Given the description of an element on the screen output the (x, y) to click on. 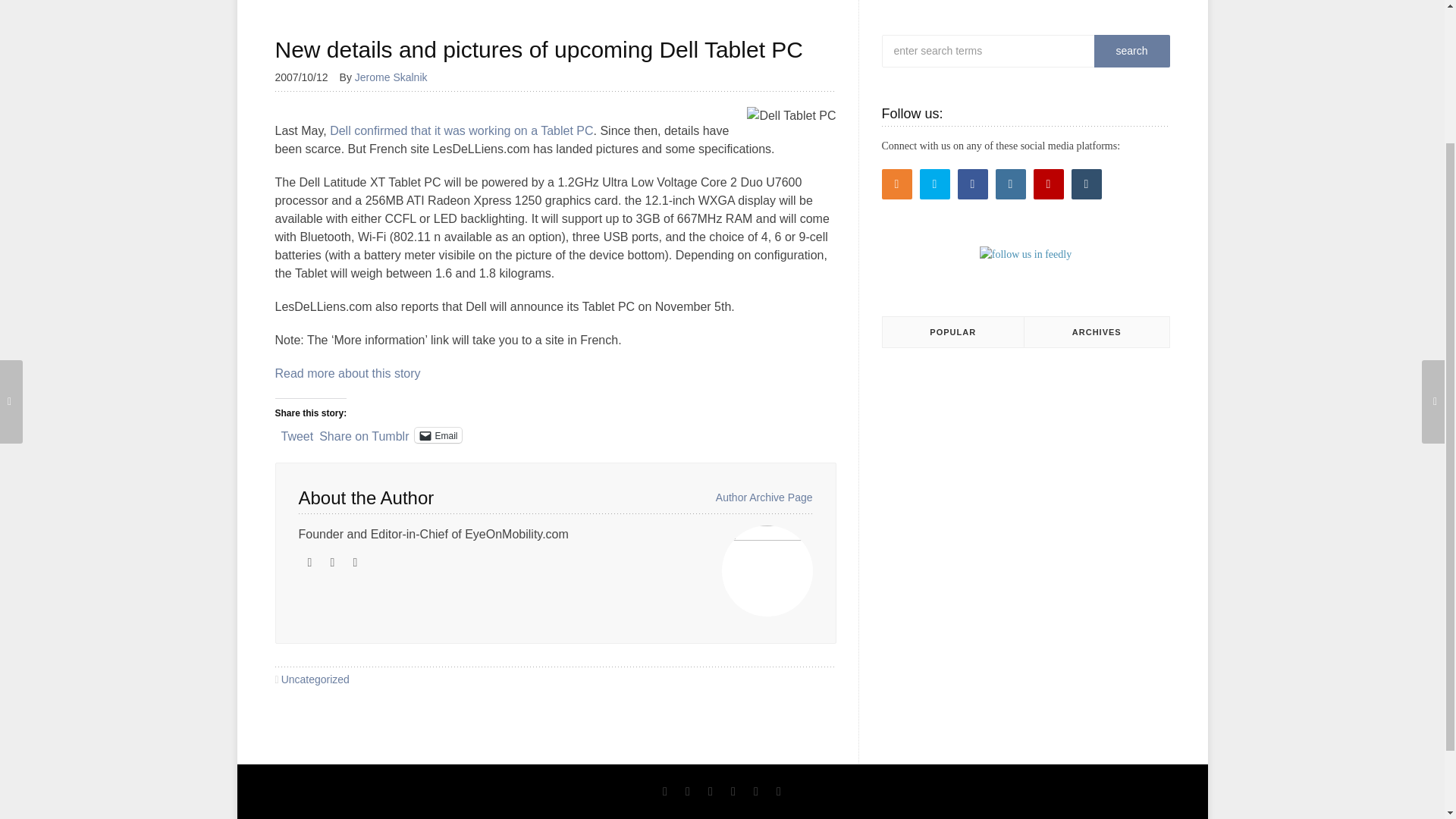
Search (1131, 51)
Jerome Skalnik's Website (309, 562)
Email (437, 435)
Click to email a link to a friend (437, 435)
Dell confirmed that it was working on a Tablet PC (461, 130)
Tweet (297, 434)
Jerome Skalnik (397, 77)
Uncategorized (315, 679)
Share on Tumblr (363, 434)
POPULAR (953, 332)
Jerome Skalnik on Twitter (354, 562)
Read more about this story (347, 373)
Search (1131, 51)
Author Archive Page (764, 497)
Enter Search Terms (1017, 51)
